Given the description of an element on the screen output the (x, y) to click on. 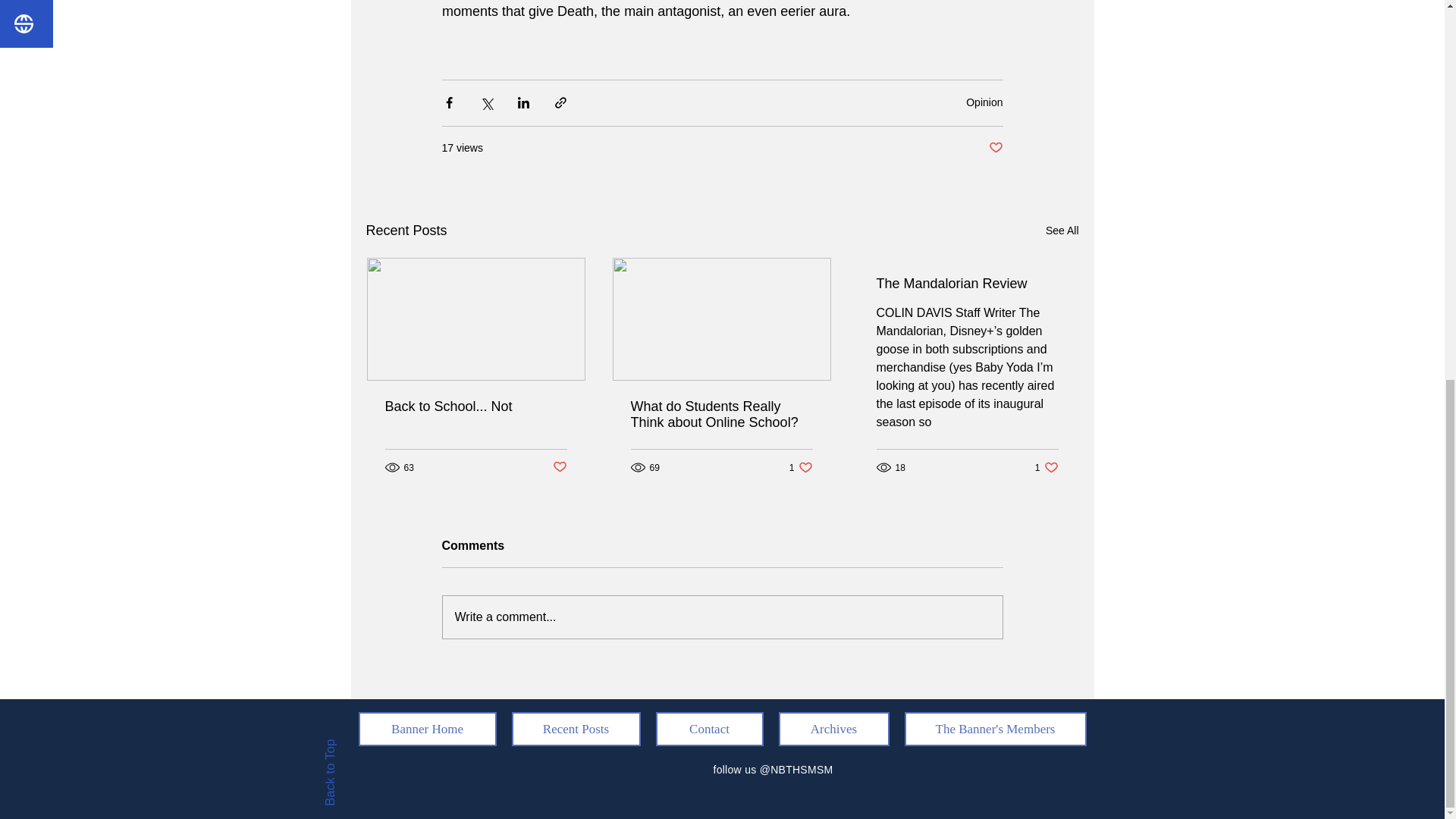
See All (1061, 230)
Write a comment... (800, 467)
Banner Home (722, 617)
The Mandalorian Review (427, 728)
Opinion (967, 283)
Post not marked as liked (984, 102)
Recent Posts (558, 467)
Archives (575, 728)
What do Students Really Think about Online School? (832, 728)
The Banner's Members (721, 414)
Back to School... Not (995, 728)
Post not marked as liked (476, 406)
Contact (995, 148)
